Given the description of an element on the screen output the (x, y) to click on. 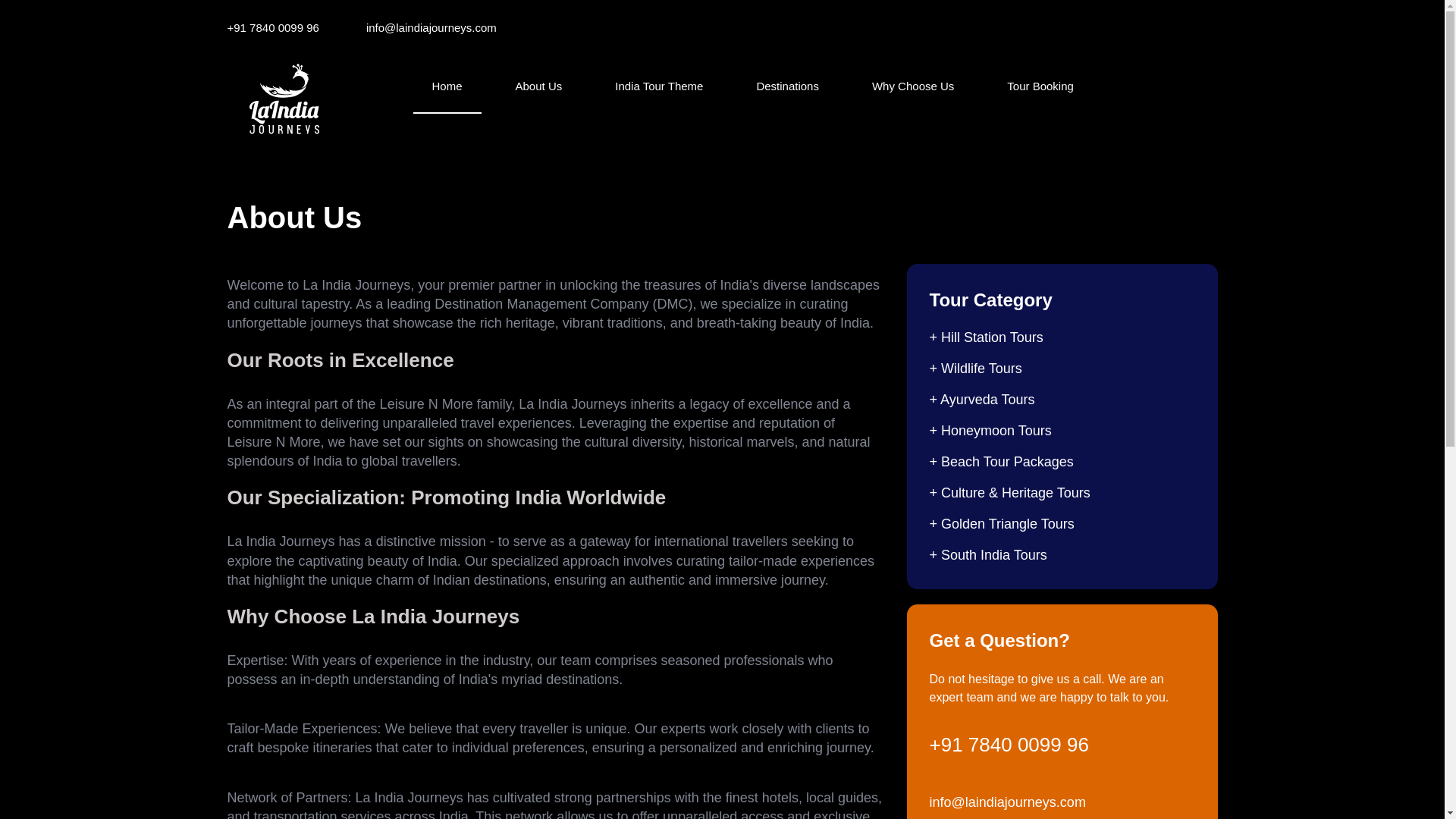
About Us (538, 86)
Why Choose Us (912, 86)
Home (446, 86)
Destinations (787, 86)
Tour Booking (1040, 86)
India Tour Theme (658, 86)
